Given the description of an element on the screen output the (x, y) to click on. 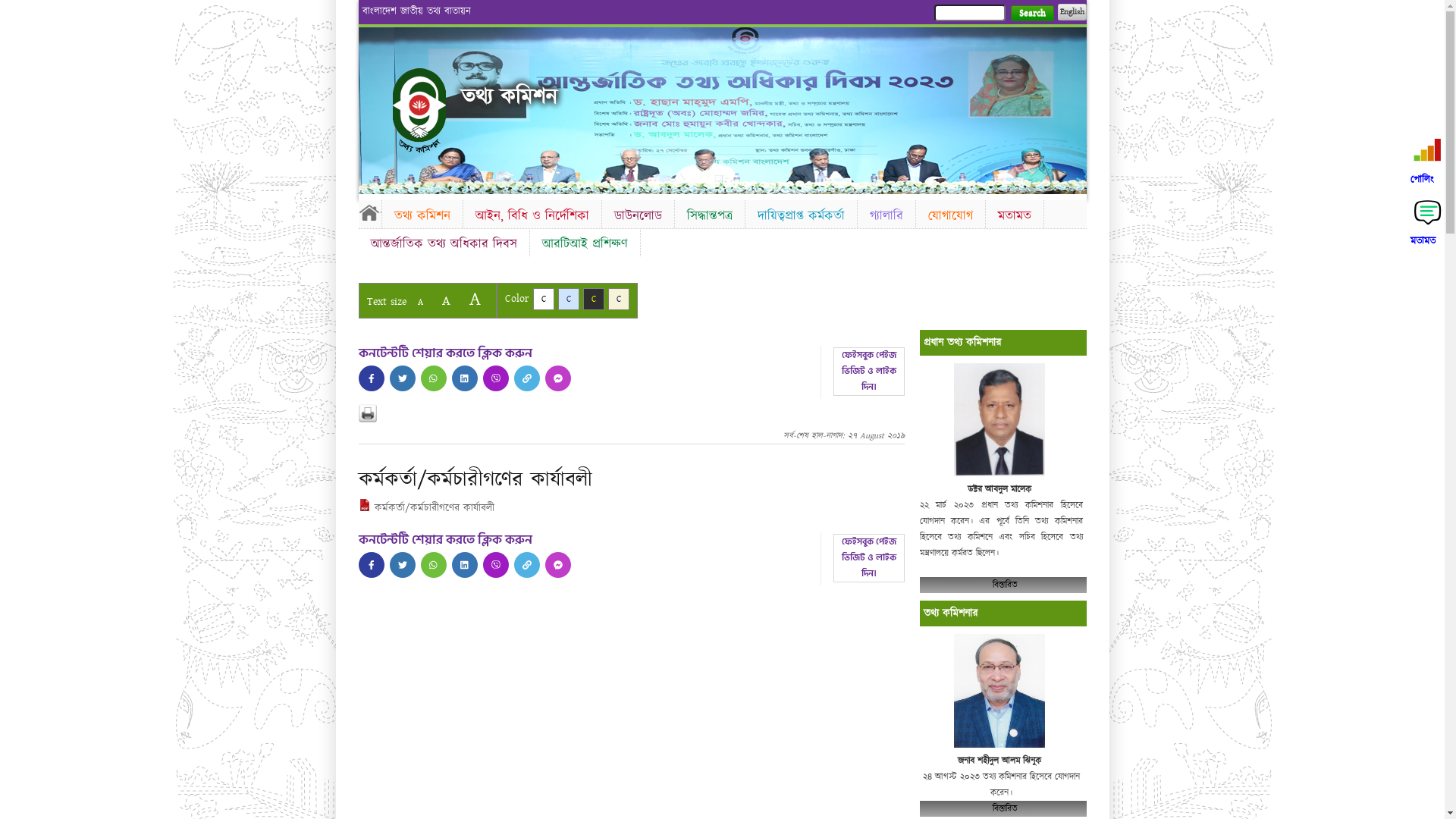
Home Element type: hover (418, 110)
A Element type: text (474, 298)
C Element type: text (592, 299)
Home Element type: hover (368, 211)
Search Element type: text (1031, 13)
C Element type: text (542, 299)
A Element type: text (445, 300)
English Element type: text (1071, 11)
C Element type: text (618, 299)
C Element type: text (568, 299)
A Element type: text (419, 301)
